Given the description of an element on the screen output the (x, y) to click on. 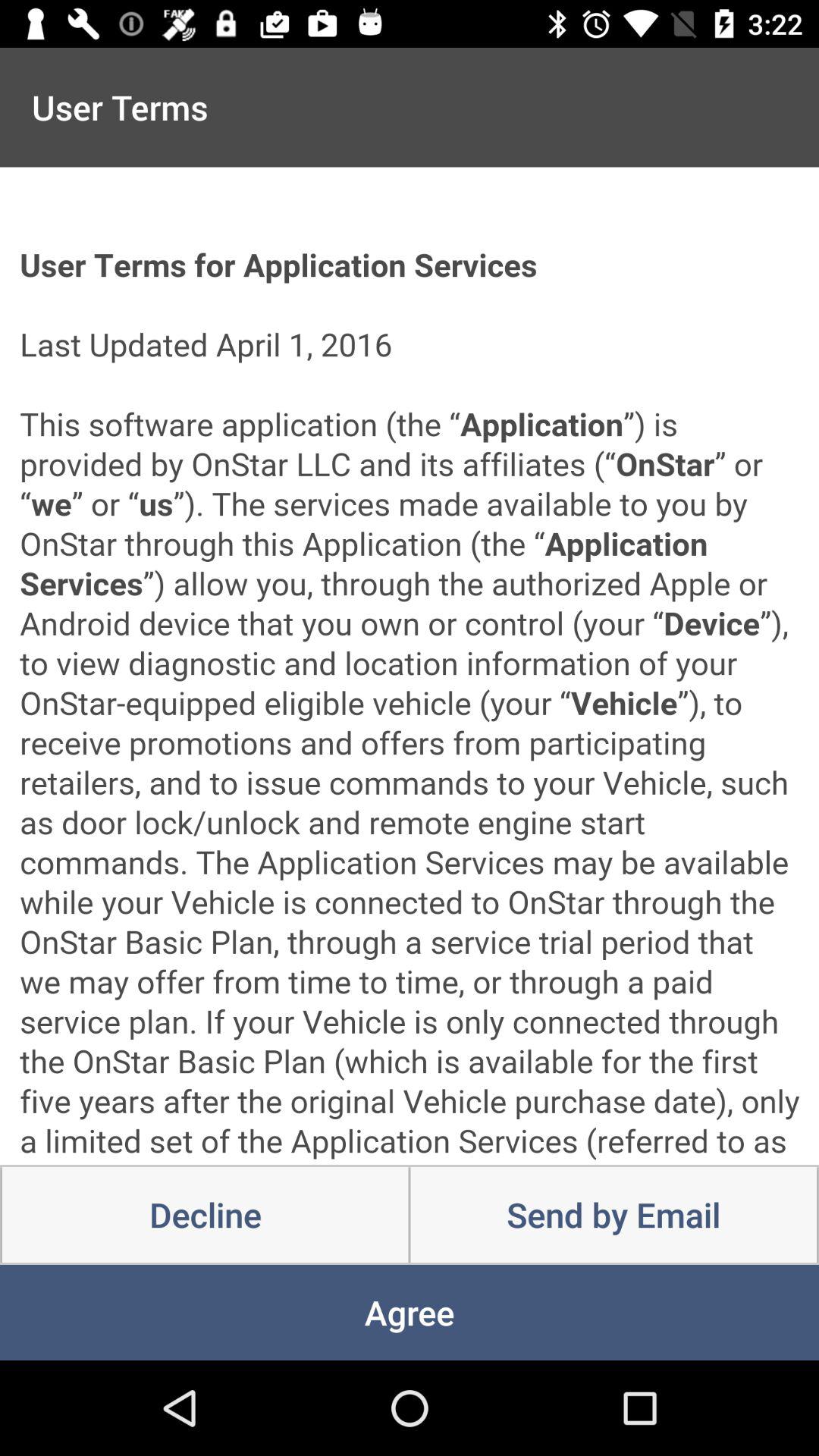
press icon to the left of the send by email icon (205, 1214)
